Given the description of an element on the screen output the (x, y) to click on. 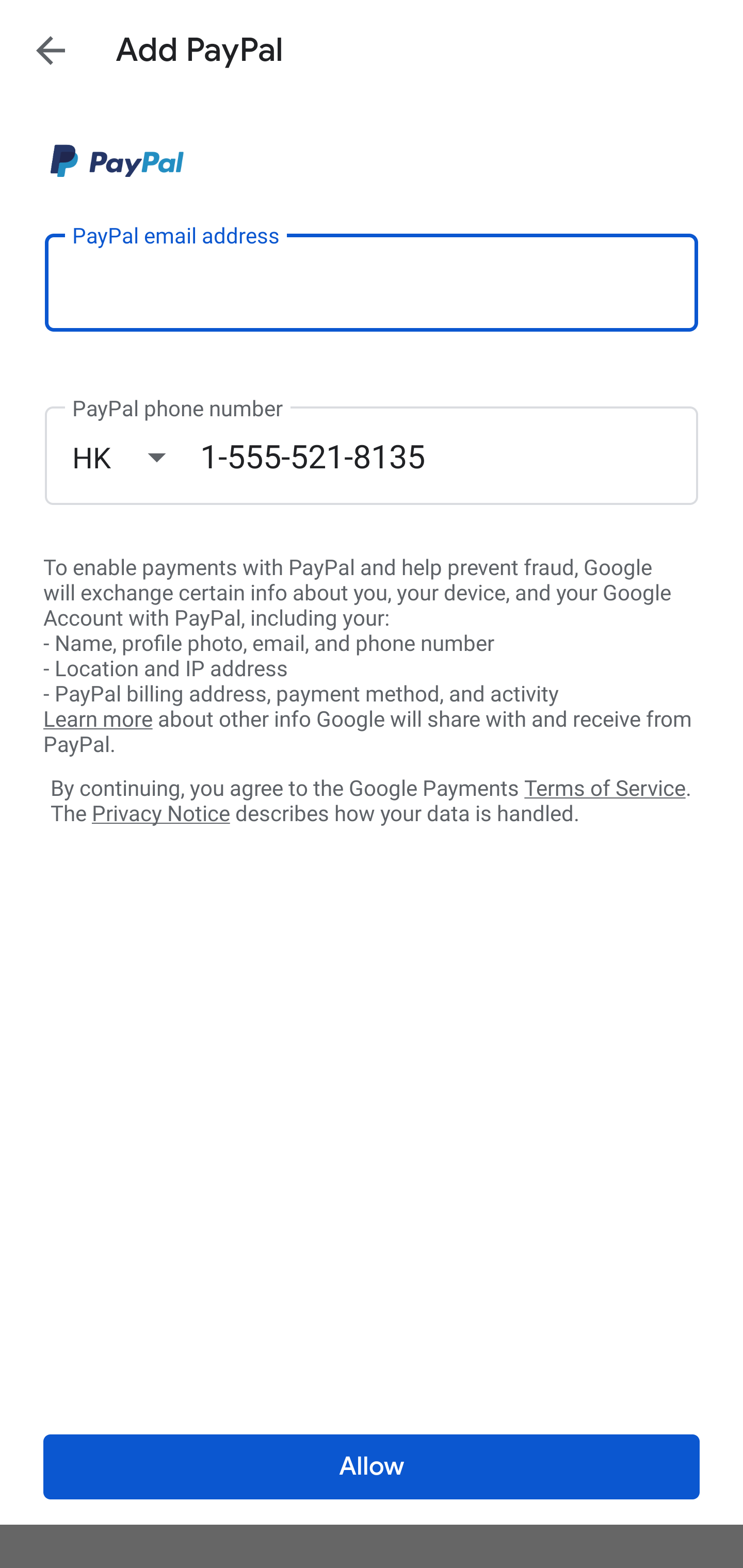
Navigate up (50, 50)
PayPal email address (371, 282)
HK (135, 456)
Learn more (97, 719)
Terms of Service (604, 787)
Privacy Notice (160, 814)
Allow (371, 1466)
